Given the description of an element on the screen output the (x, y) to click on. 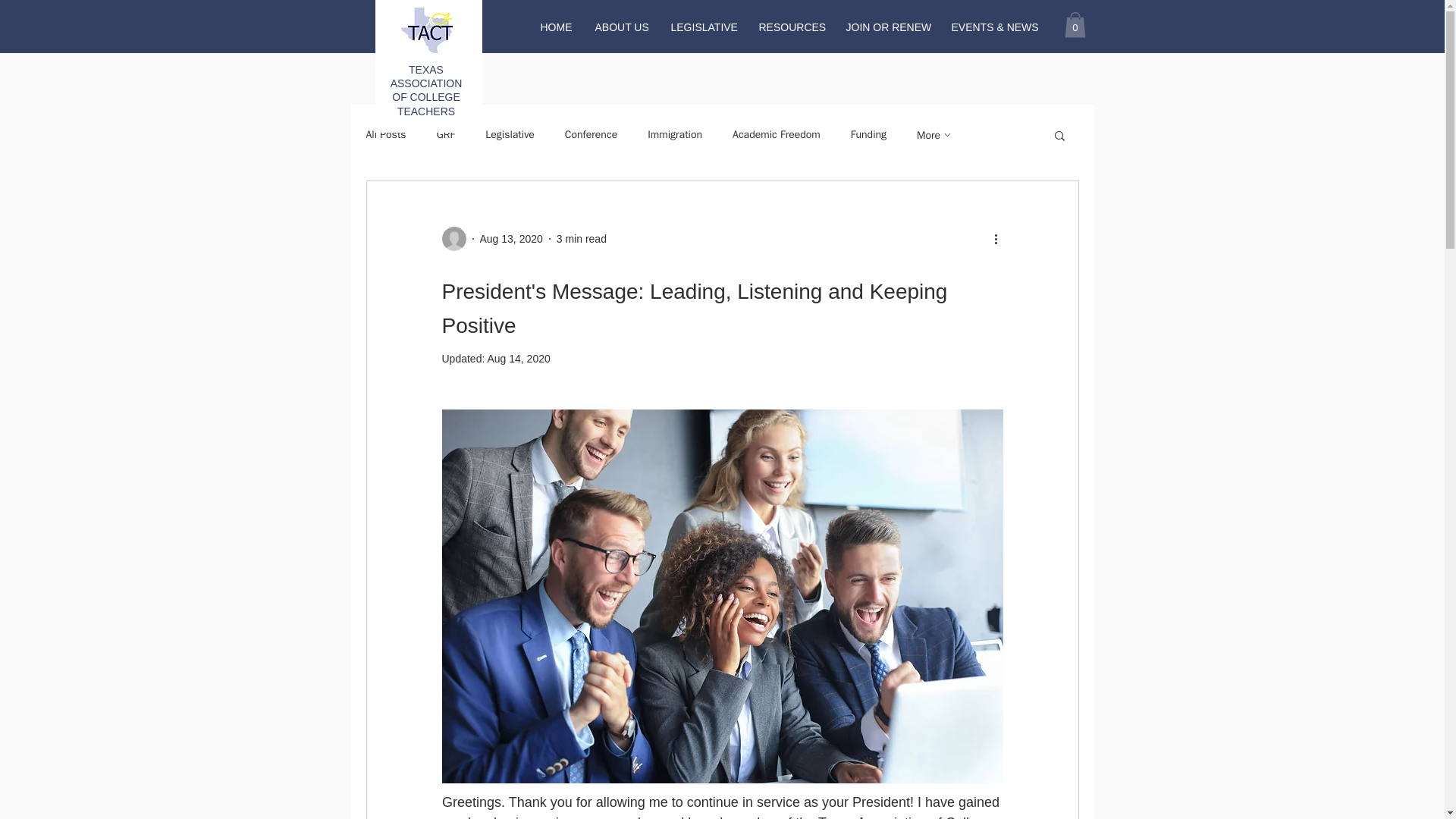
Conference (590, 134)
Immigration (674, 134)
3 min read (581, 237)
ABOUT US (621, 26)
Academic Freedom (776, 134)
GRF (445, 134)
Legislative (509, 134)
All Posts (385, 134)
JOIN OR RENEW (886, 26)
LEGISLATIVE (703, 26)
